Given the description of an element on the screen output the (x, y) to click on. 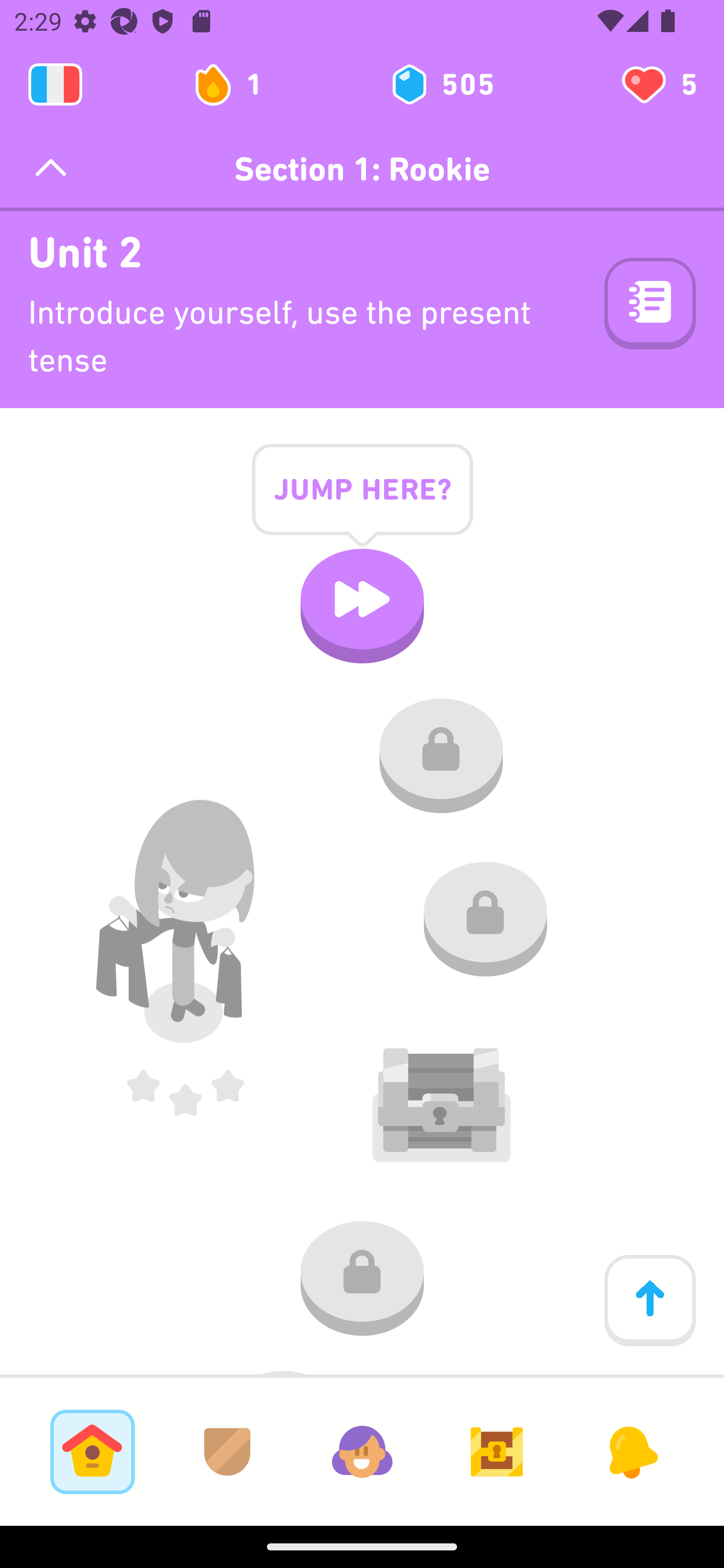
Learning 2131888976 (55, 84)
1 day streak 1 (236, 84)
505 (441, 84)
You have 5 hearts left 5 (657, 84)
Section 1: Rookie (362, 169)
JUMP HERE? (361, 504)
Learn Tab (91, 1451)
Leagues Tab (227, 1451)
Profile Tab (361, 1451)
Goals Tab (496, 1451)
News Tab (631, 1451)
